Given the description of an element on the screen output the (x, y) to click on. 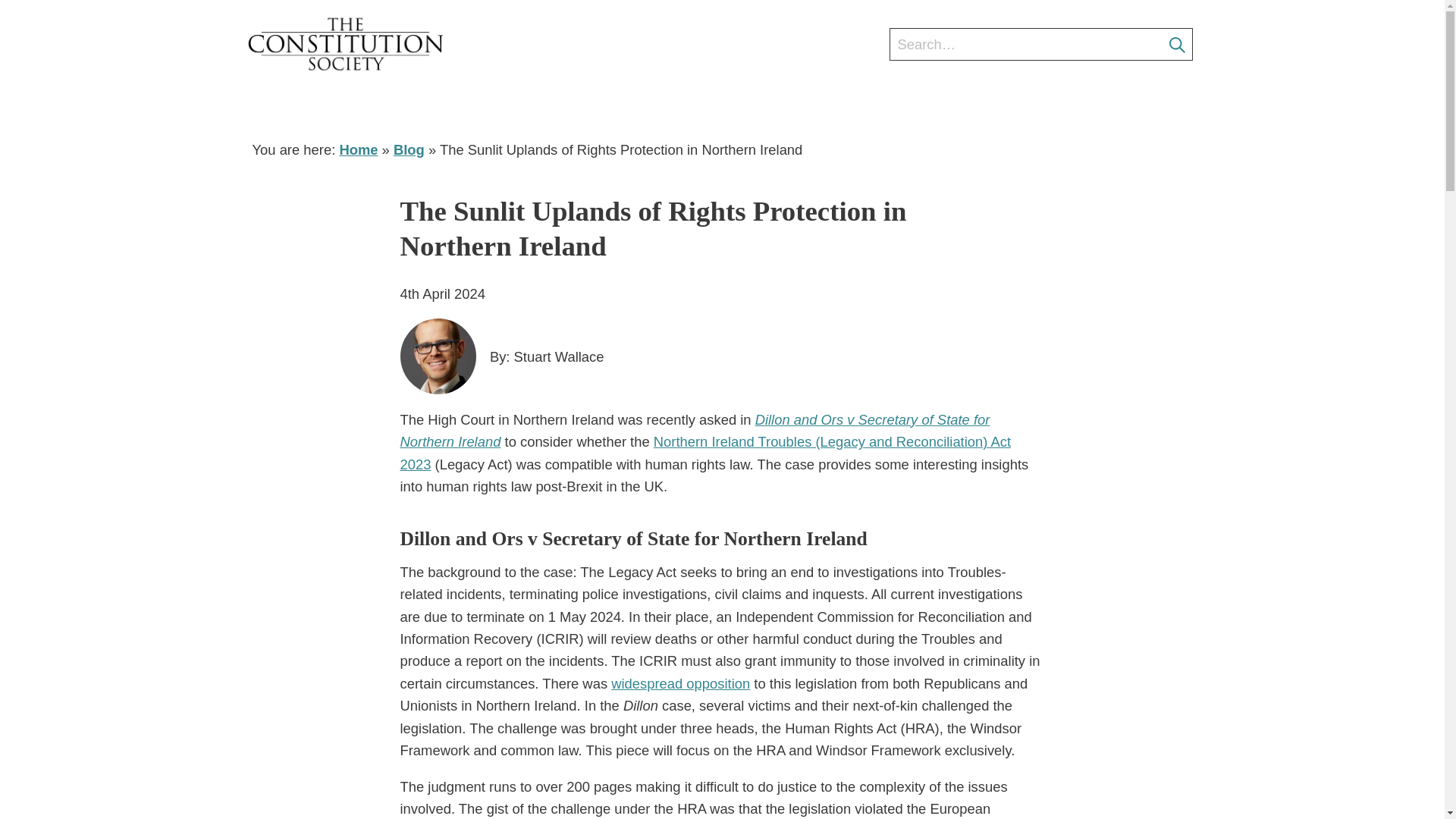
BGI Archive (1142, 106)
Submit search (1179, 45)
Blog (953, 106)
Publications (1035, 106)
The Constitution Explained (823, 106)
About (436, 106)
Search for (1040, 43)
widespread opposition (680, 683)
Home (358, 149)
